Given the description of an element on the screen output the (x, y) to click on. 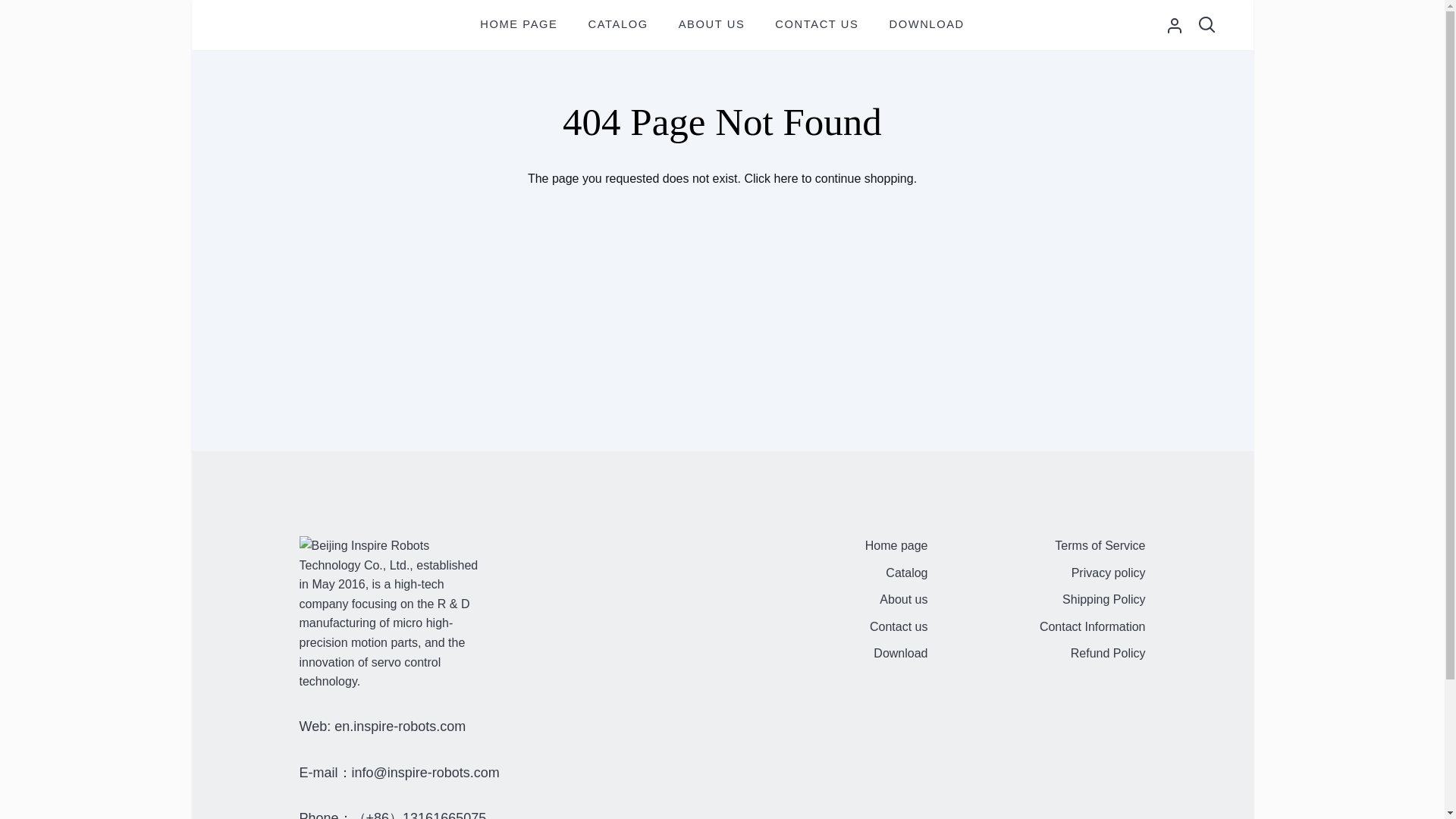
Home page (896, 546)
About us (903, 600)
CATALOG (618, 24)
Catalog (906, 574)
Contact us (898, 627)
CONTACT US (816, 24)
HOME PAGE (518, 24)
ABOUT US (711, 24)
DOWNLOAD (925, 24)
here (785, 178)
Download (900, 654)
